Given the description of an element on the screen output the (x, y) to click on. 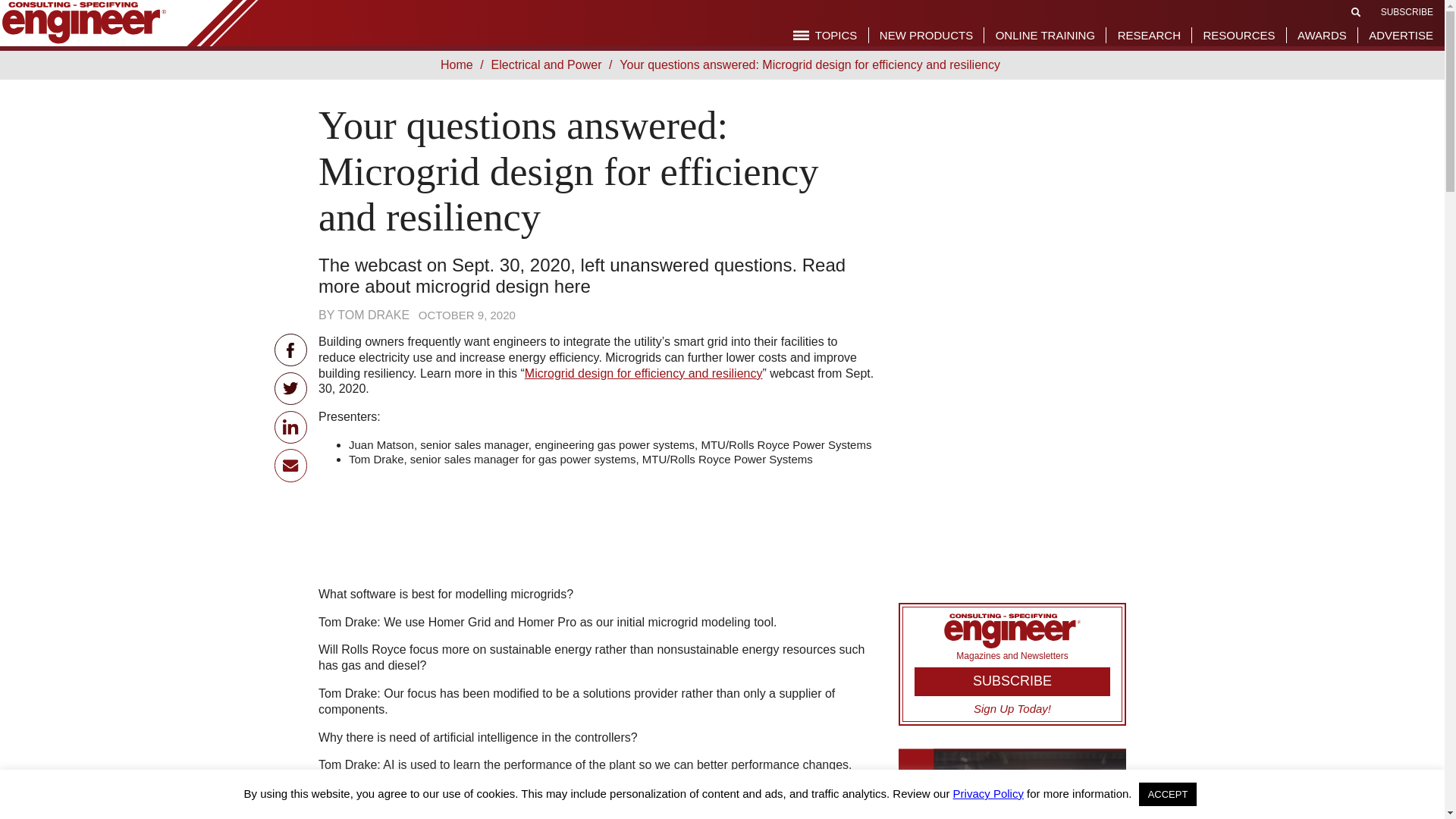
AWARDS (1321, 34)
RESEARCH (1149, 34)
LinkedIn (291, 427)
ONLINE TRAINING (1045, 34)
Twitter (291, 388)
Facebook (291, 349)
TOM DRAKE (373, 314)
NEW PRODUCTS (925, 34)
SUBSCRIBE (1406, 11)
TOPICS (824, 34)
